Given the description of an element on the screen output the (x, y) to click on. 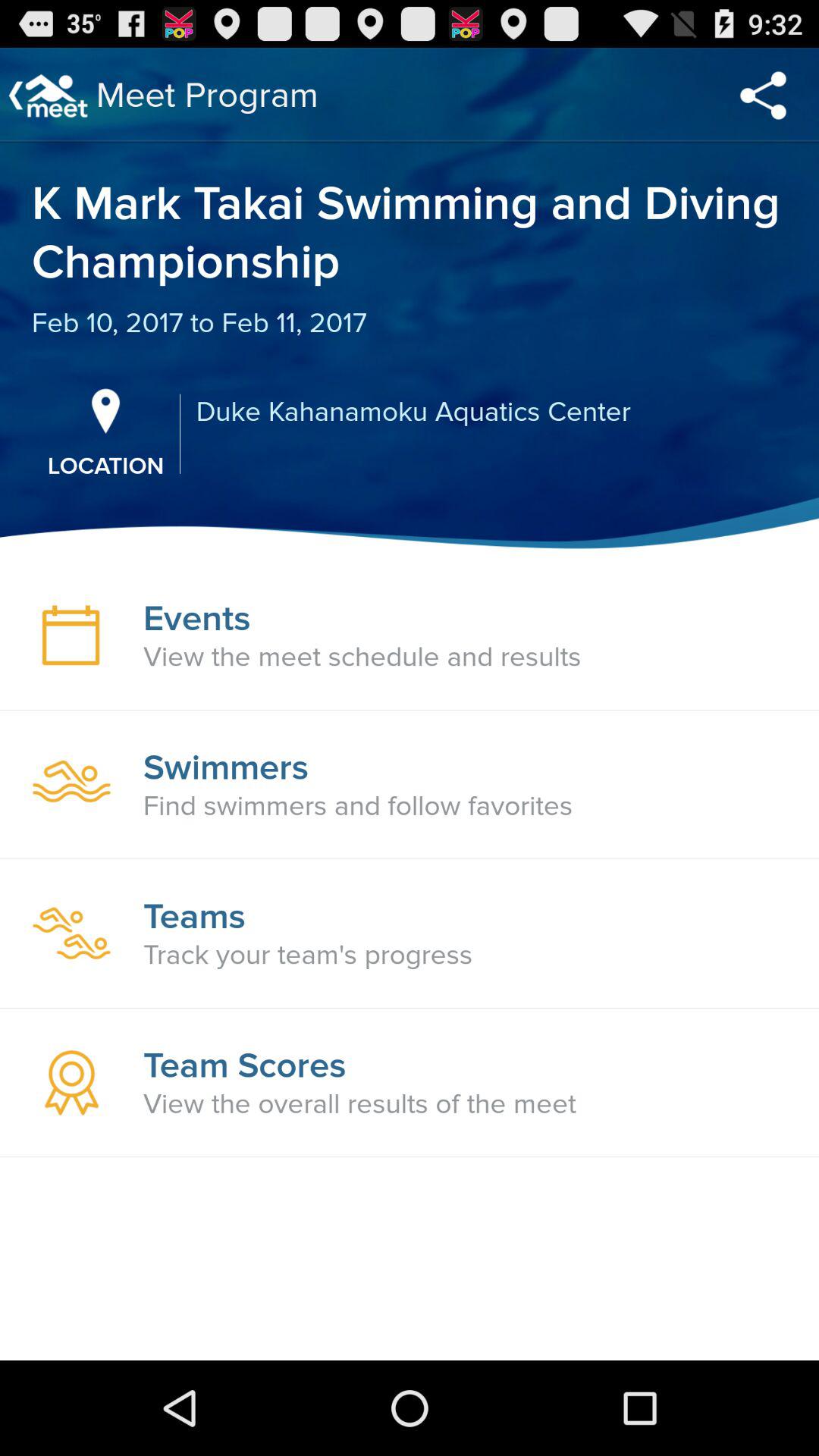
turn off app to the right of the meet program app (763, 95)
